Given the description of an element on the screen output the (x, y) to click on. 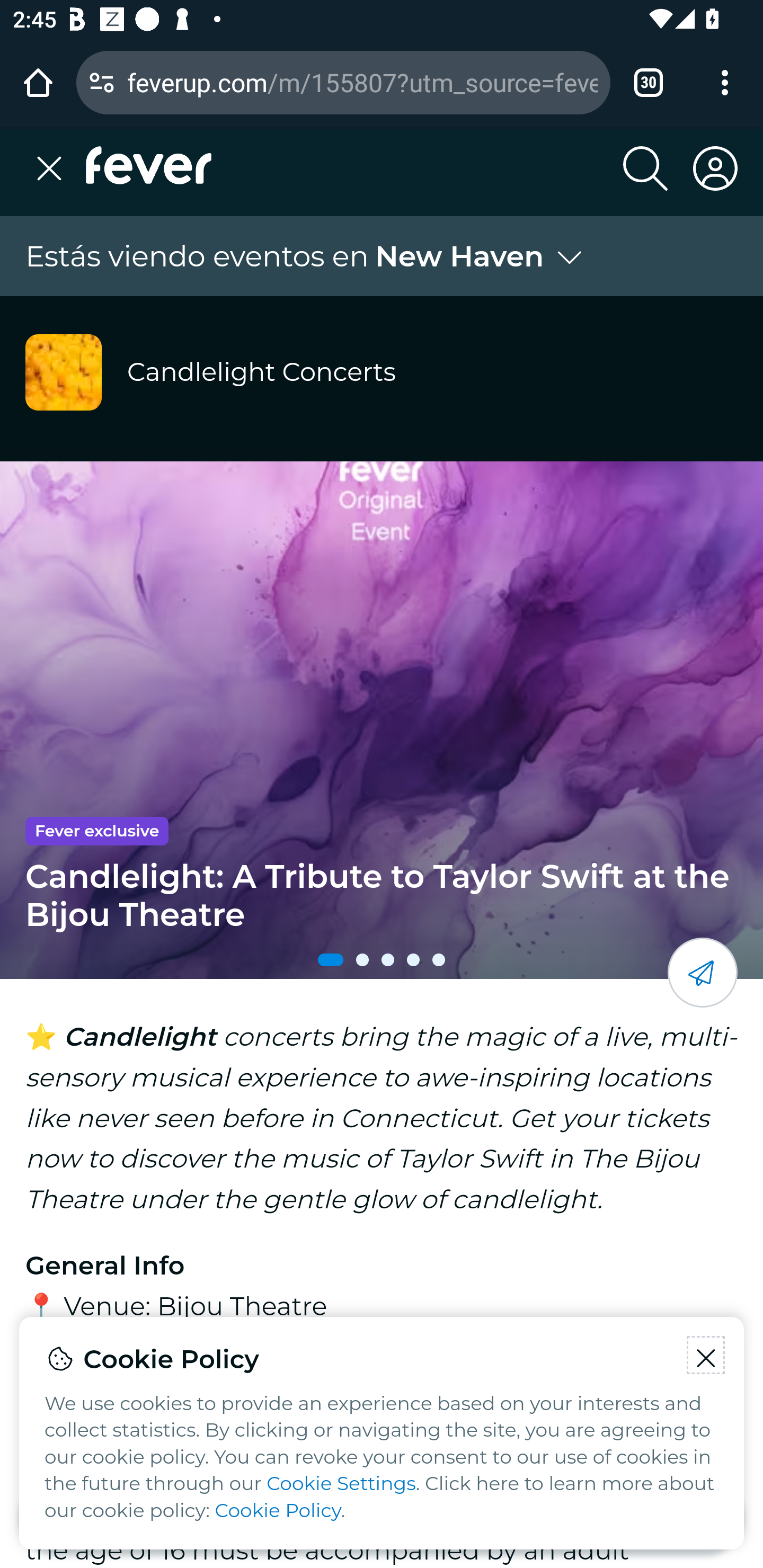
Open the home page (38, 82)
Connection is secure (101, 82)
Switch or close tabs (648, 82)
Customize and control Google Chrome (724, 82)
Toggle navigation (55, 168)
Estás viendo eventos en New Haven  (306, 256)
Cookie Settings (340, 1484)
Cookie Policy (277, 1510)
